Given the description of an element on the screen output the (x, y) to click on. 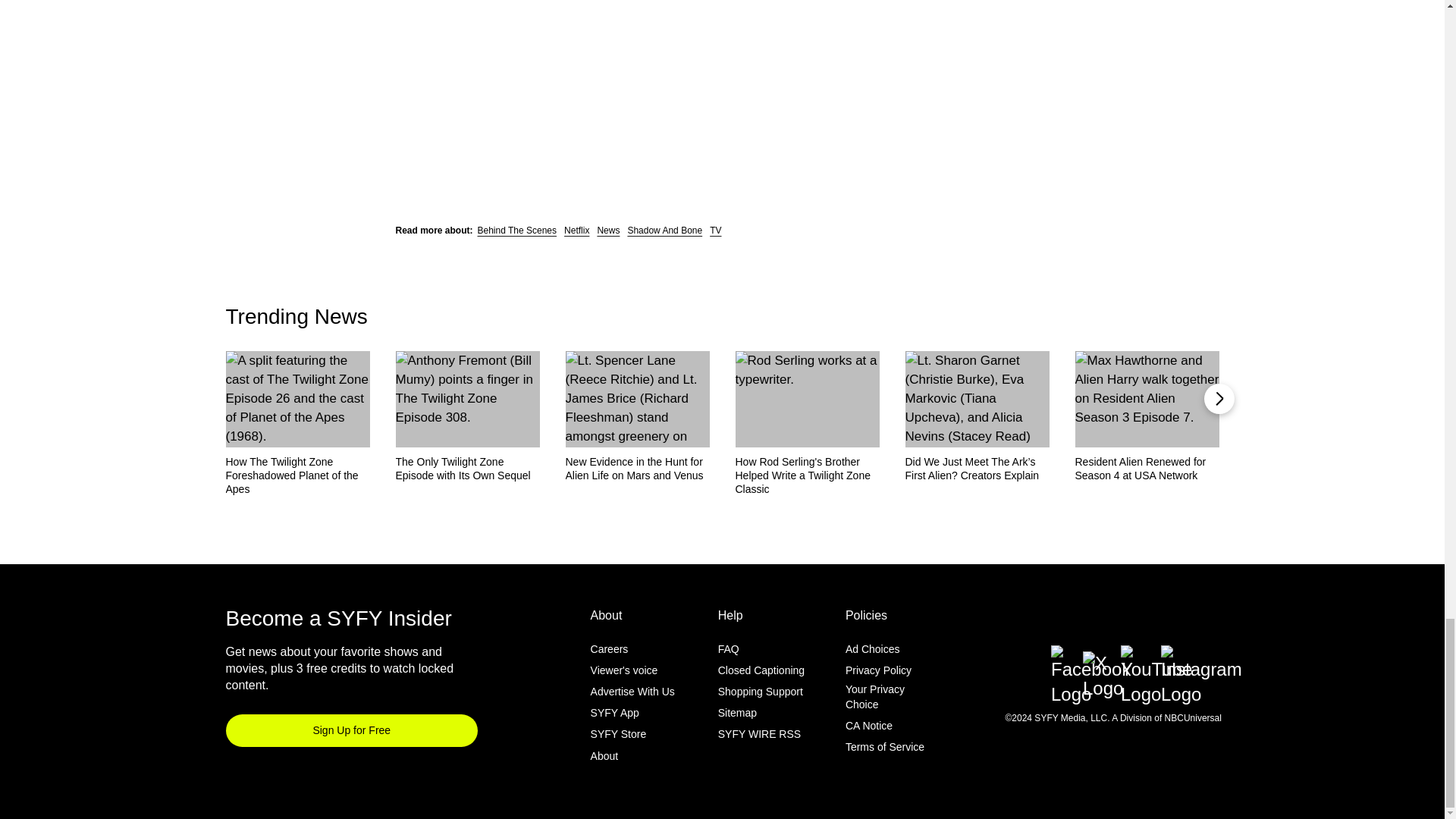
News (608, 230)
TV (715, 230)
How The Twilight Zone Foreshadowed Planet of the Apes (297, 475)
Advertise With Us (633, 691)
Behind The Scenes (517, 230)
New Evidence in the Hunt for Alien Life on Mars and Venus (638, 468)
The Only Twilight Zone Episode with Its Own Sequel (468, 468)
Shadow And Bone (664, 230)
Netflix (576, 230)
